Given the description of an element on the screen output the (x, y) to click on. 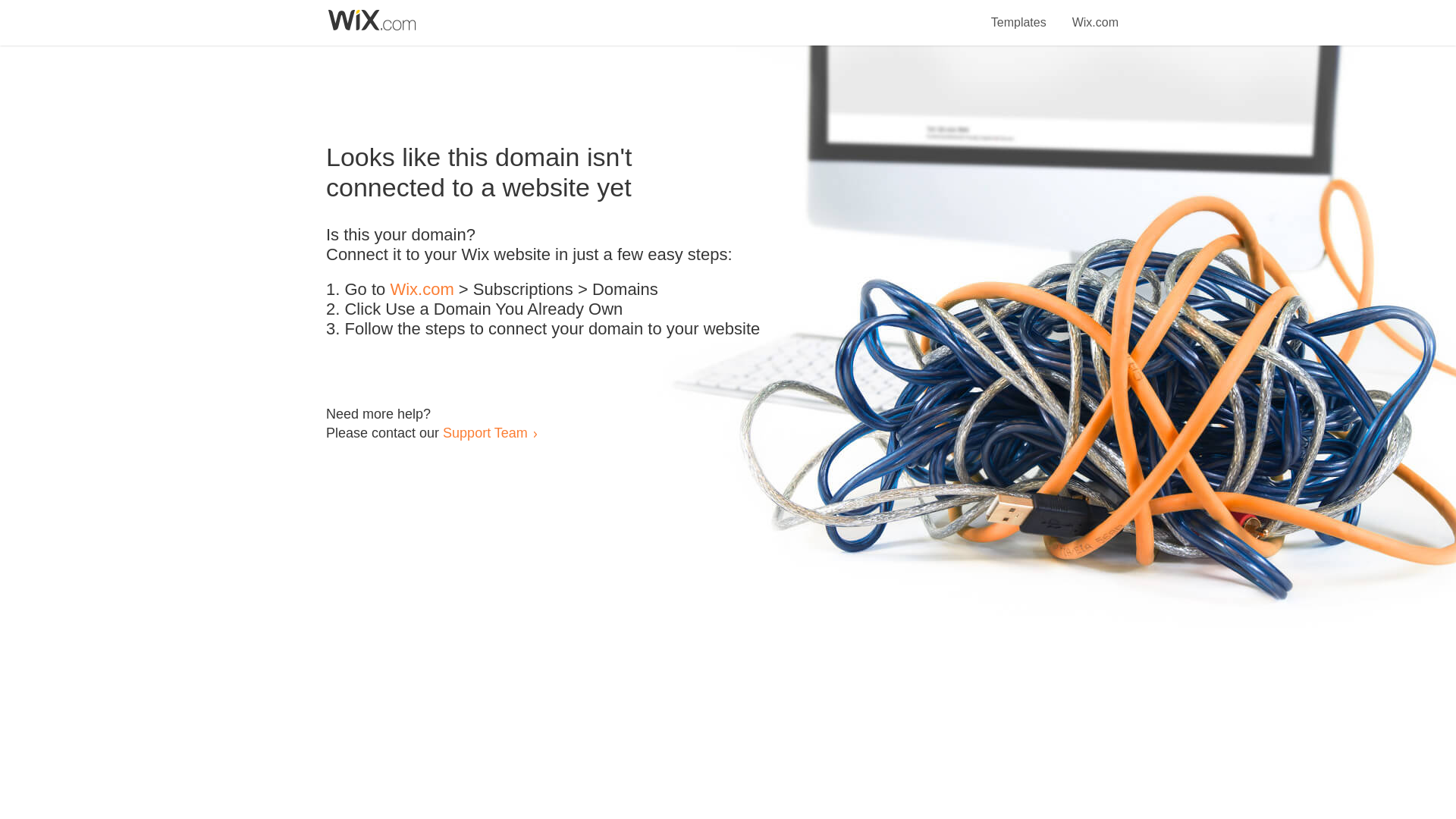
Support Team (484, 432)
Wix.com (421, 289)
Templates (1018, 14)
Wix.com (1095, 14)
